Given the description of an element on the screen output the (x, y) to click on. 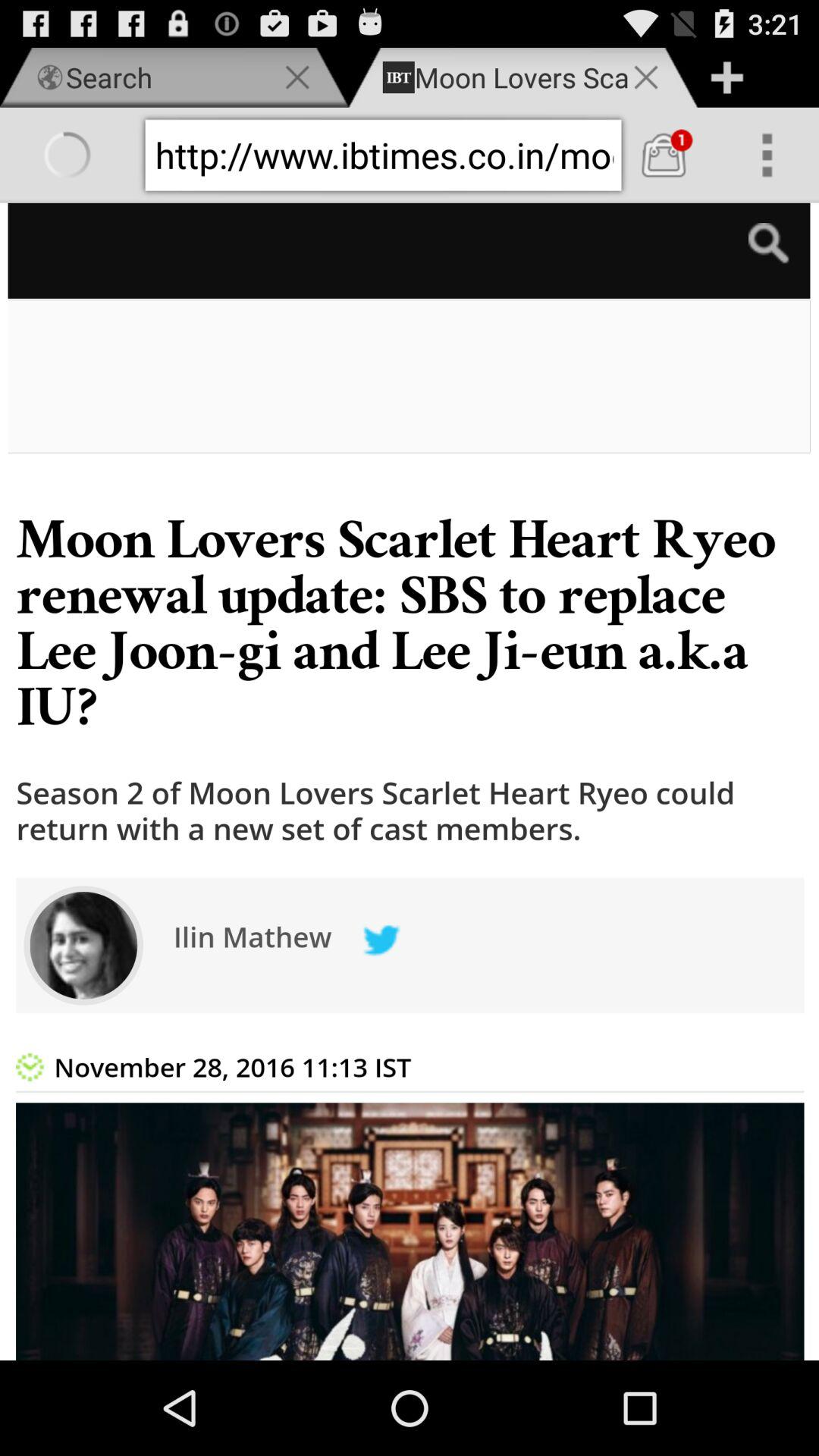
go to cart (663, 155)
